Given the description of an element on the screen output the (x, y) to click on. 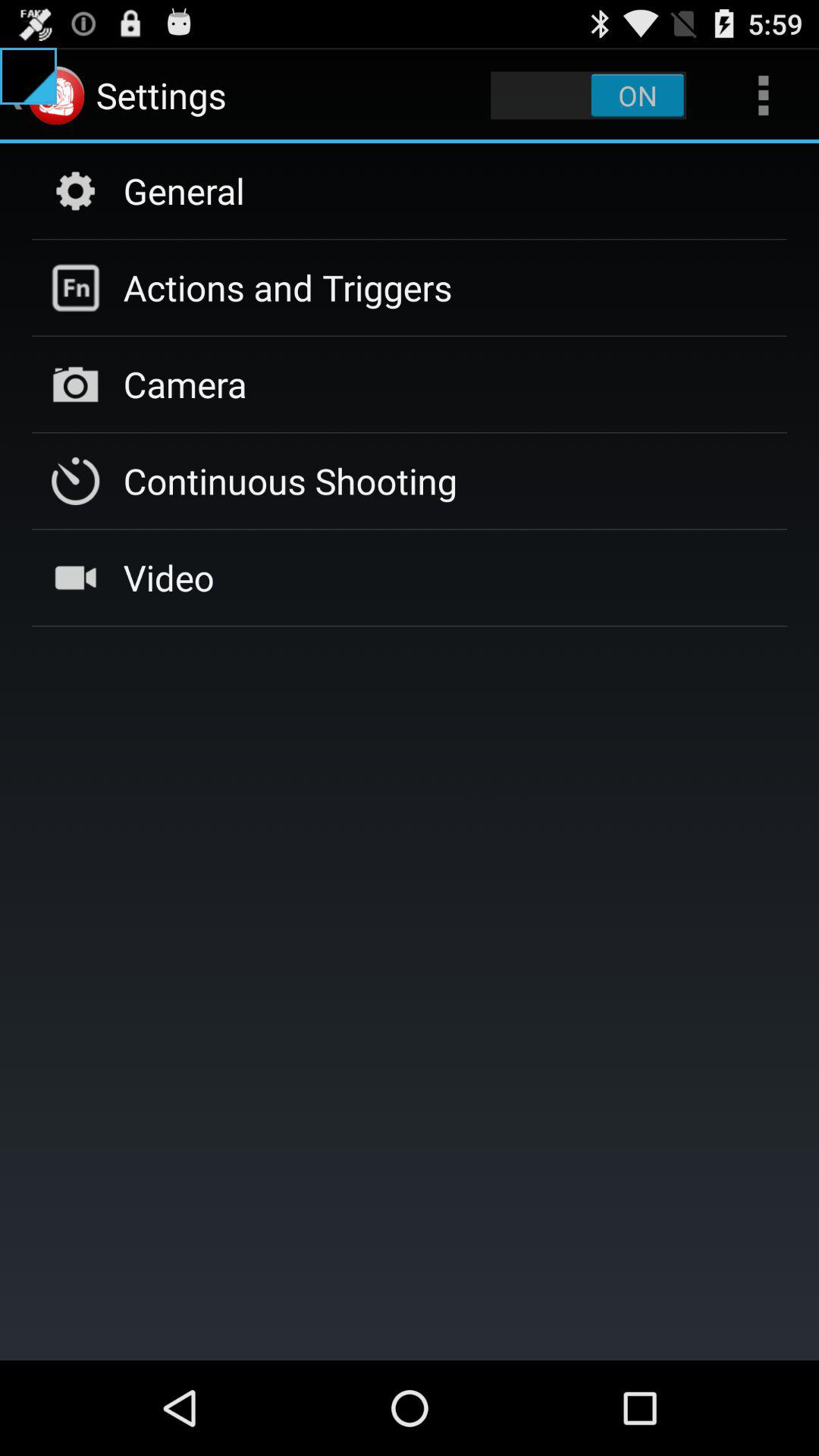
turn on icon next to the settings icon (588, 95)
